Given the description of an element on the screen output the (x, y) to click on. 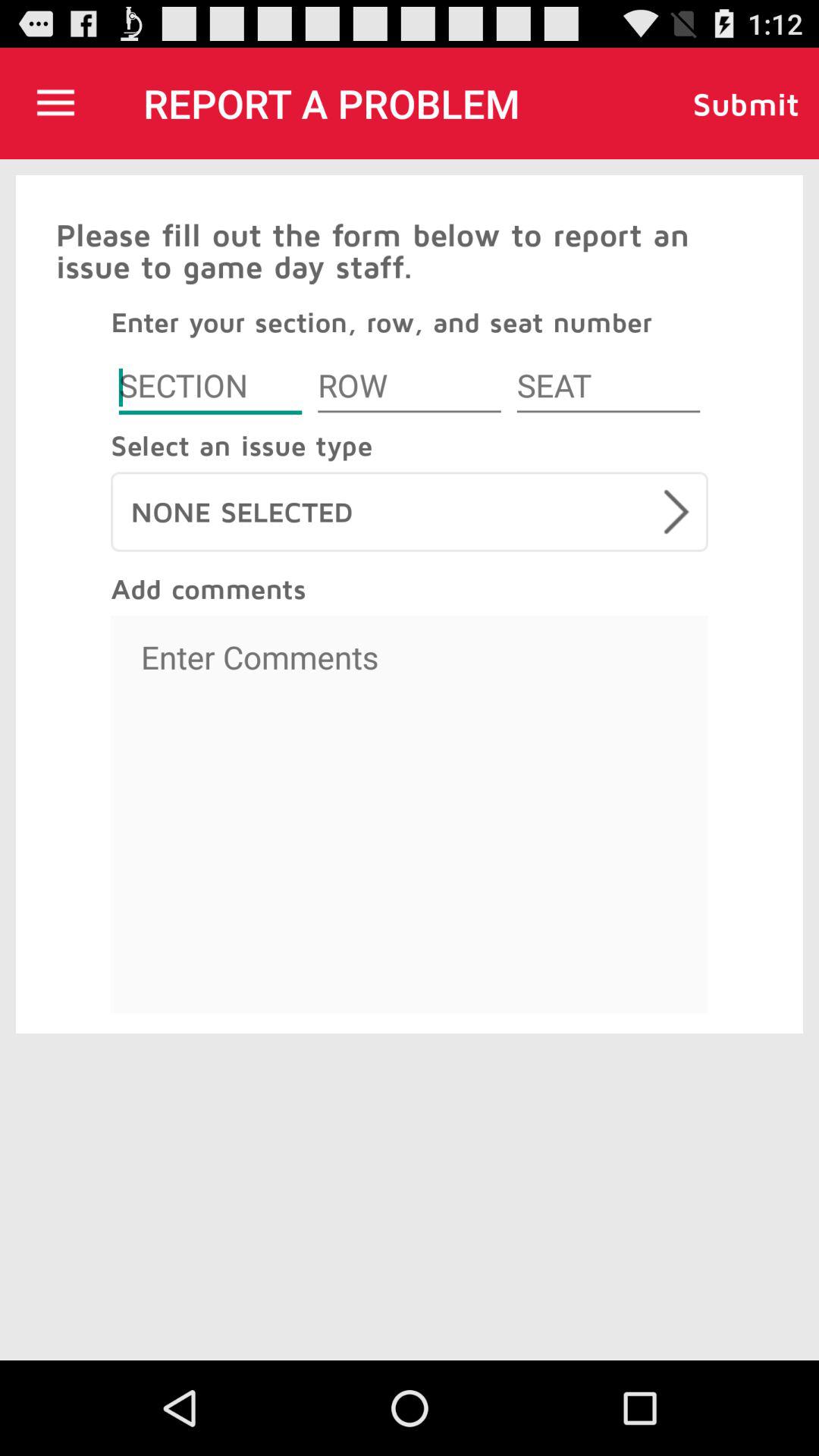
enter section (209, 388)
